Given the description of an element on the screen output the (x, y) to click on. 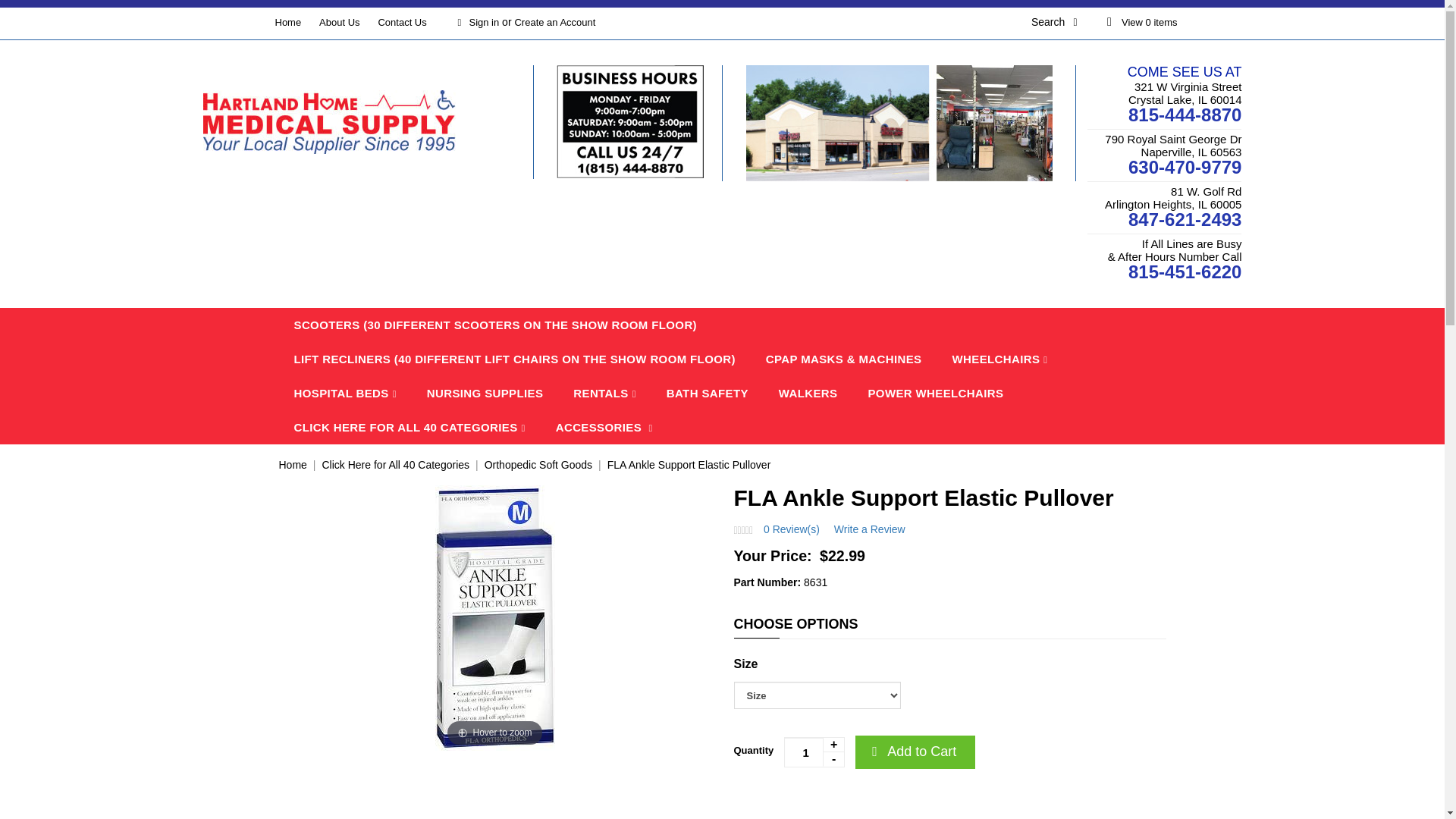
About Us (338, 21)
HOSPITAL BEDS (345, 392)
630-470-9779 (1184, 167)
Search (1063, 21)
815-444-8870 (1184, 114)
815-451-6220 (1184, 271)
NURSING SUPPLIES (485, 392)
1 (814, 752)
Home (288, 21)
View 0 items (1138, 21)
RENTALS (603, 392)
Create an Account (554, 21)
WALKERS (807, 392)
Sign in (475, 21)
847-621-2493 (1184, 219)
